Given the description of an element on the screen output the (x, y) to click on. 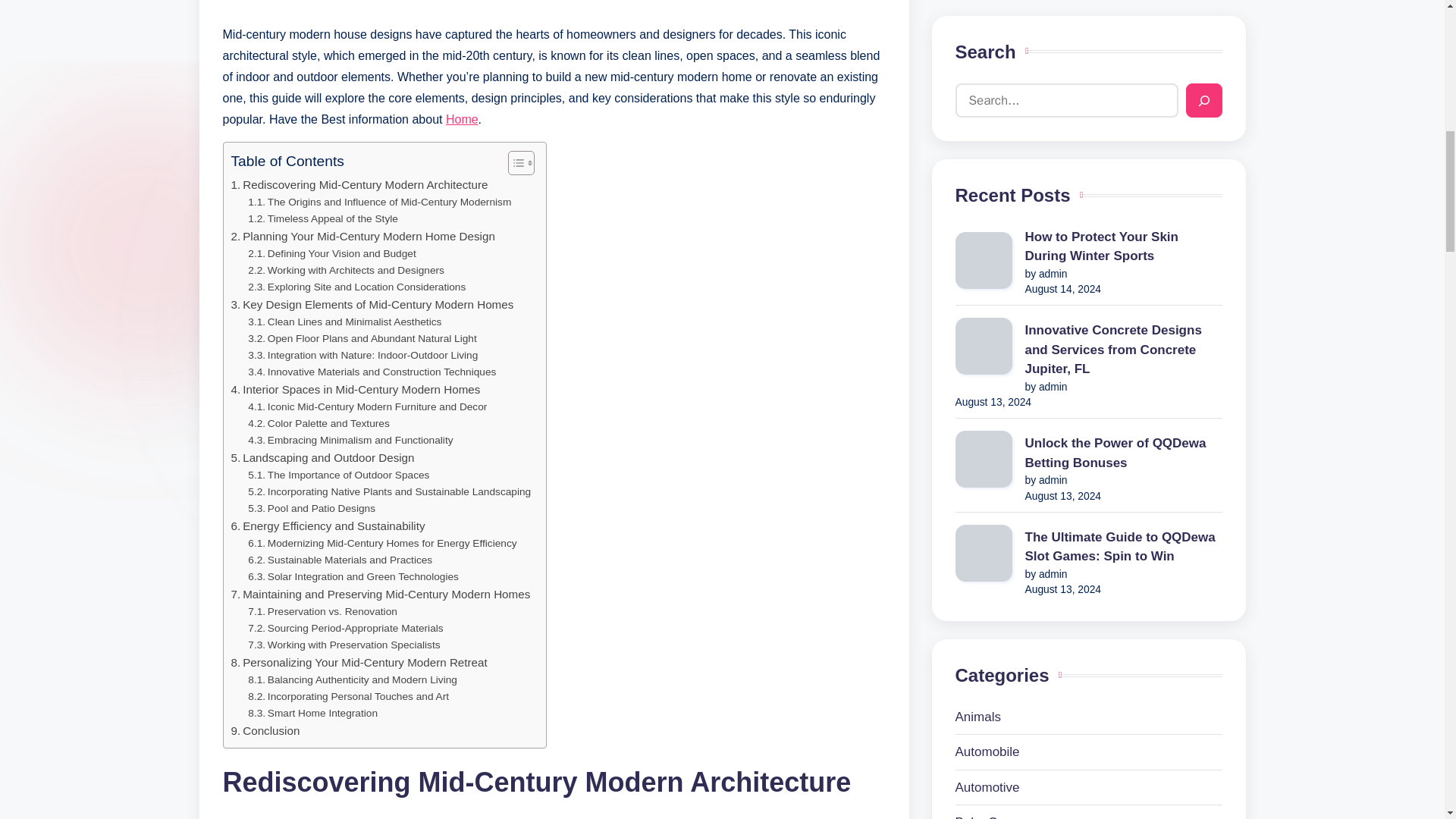
Open Floor Plans and Abundant Natural Light (361, 338)
Rediscovering Mid-Century Modern Architecture (358, 185)
Planning Your Mid-Century Modern Home Design (362, 236)
Defining Your Vision and Budget (330, 253)
Working with Architects and Designers (345, 270)
Timeless Appeal of the Style (322, 218)
Iconic Mid-Century Modern Furniture and Decor (366, 406)
Integration with Nature: Indoor-Outdoor Living (362, 355)
Key Design Elements of Mid-Century Modern Homes (371, 304)
Innovative Materials and Construction Techniques (371, 371)
